Given the description of an element on the screen output the (x, y) to click on. 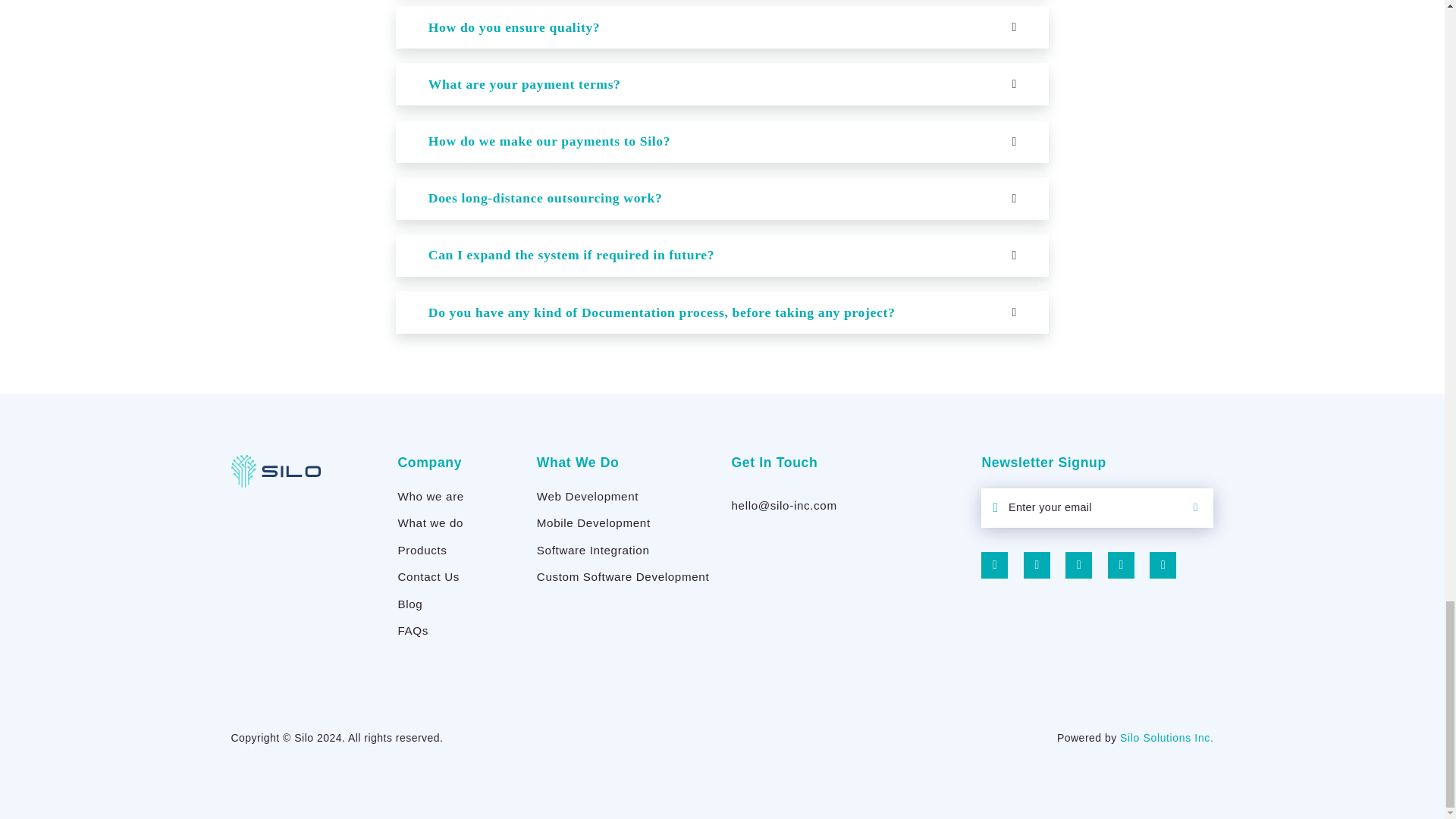
Blog (409, 603)
Subscribe (1195, 507)
Silo Solutions Inc. (1165, 737)
Software Integration (593, 549)
Contact Us (428, 576)
What we do (430, 522)
FAQs (412, 630)
Products (421, 549)
Custom Software Development (623, 576)
Mobile Development (593, 522)
Who we are (430, 495)
Web Development (588, 495)
